Given the description of an element on the screen output the (x, y) to click on. 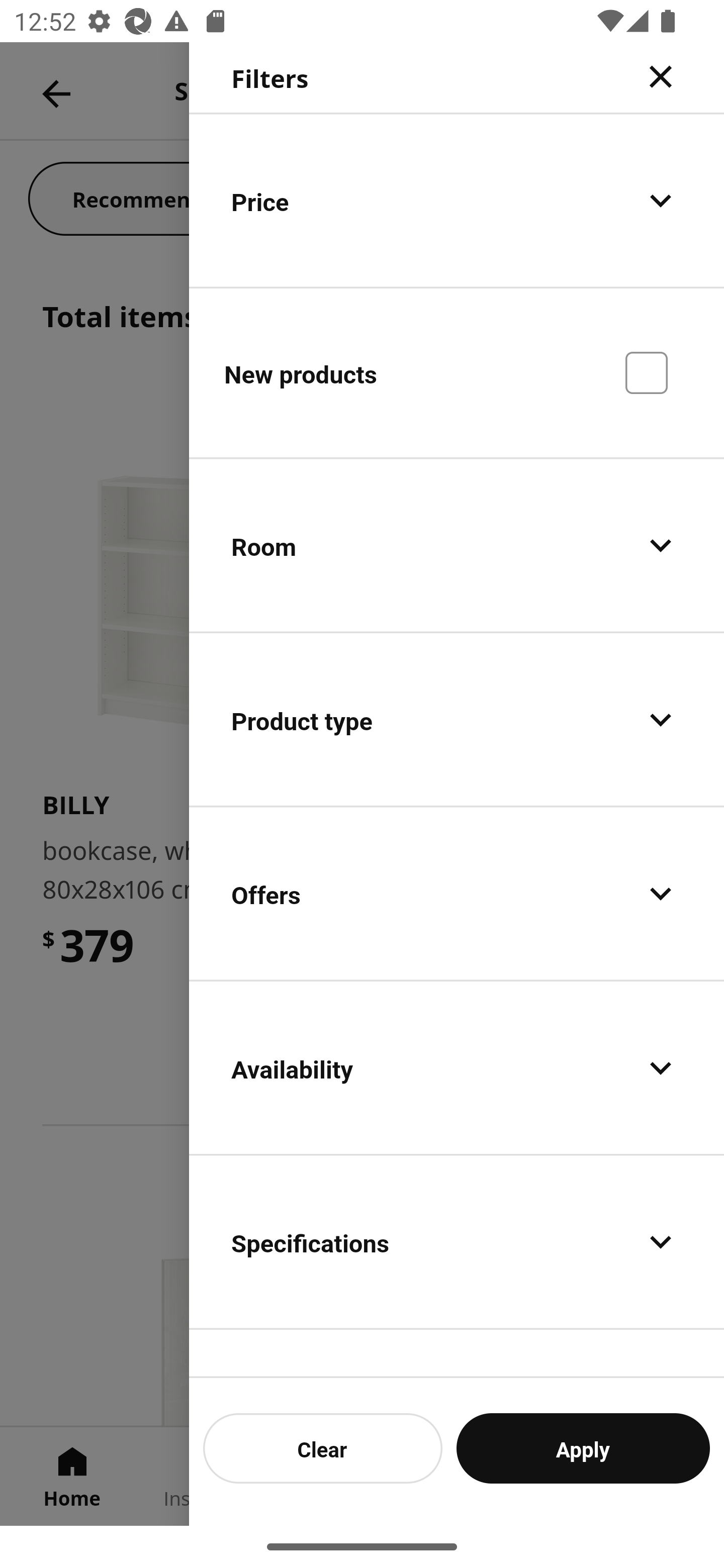
Price (456, 200)
New products (456, 371)
Room (456, 545)
Product type (456, 719)
Offers (456, 893)
Availability (456, 1067)
Specifications (456, 1241)
Clear (322, 1447)
Apply (583, 1447)
